Given the description of an element on the screen output the (x, y) to click on. 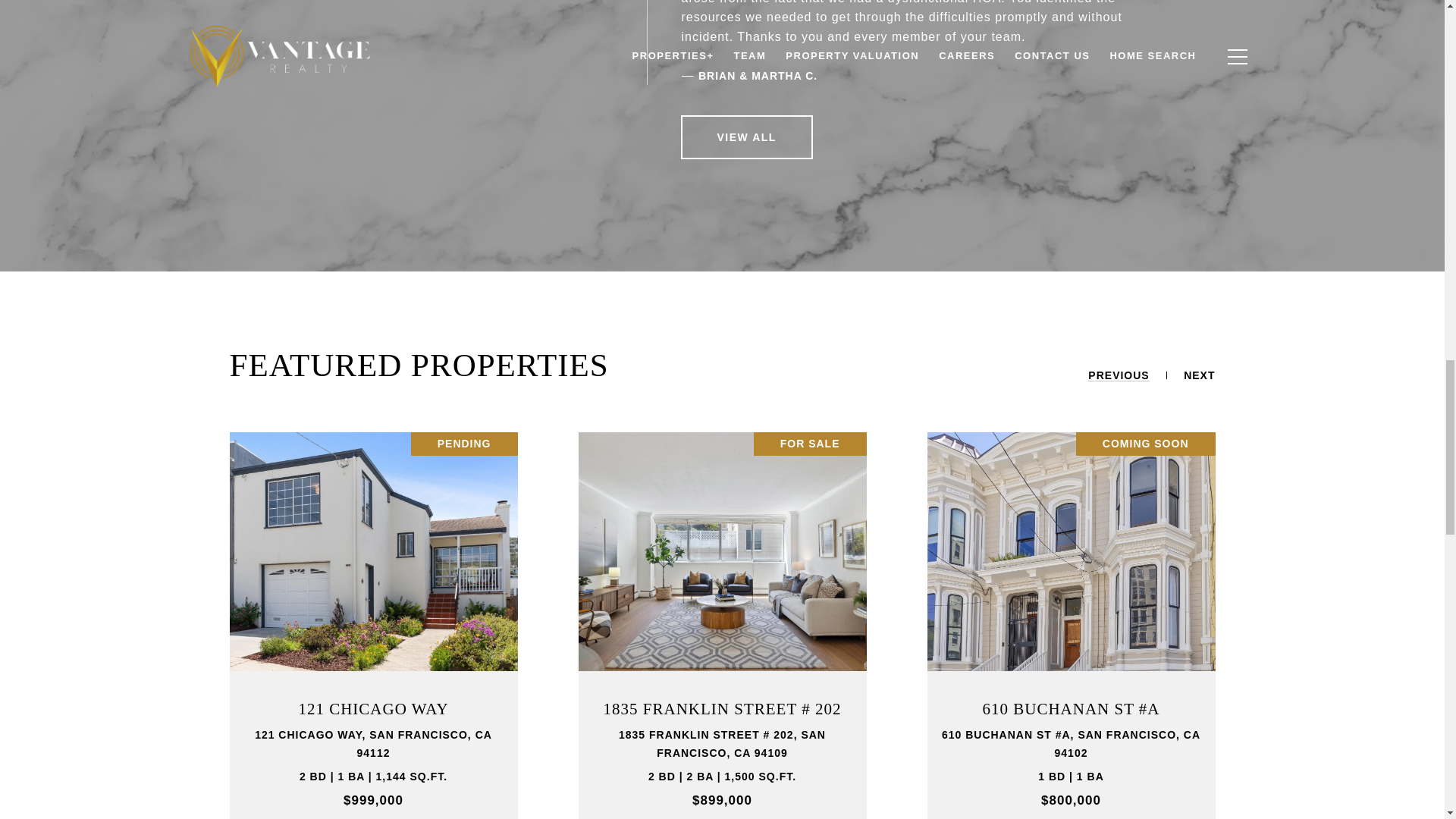
VIEW ALL (746, 136)
